Given the description of an element on the screen output the (x, y) to click on. 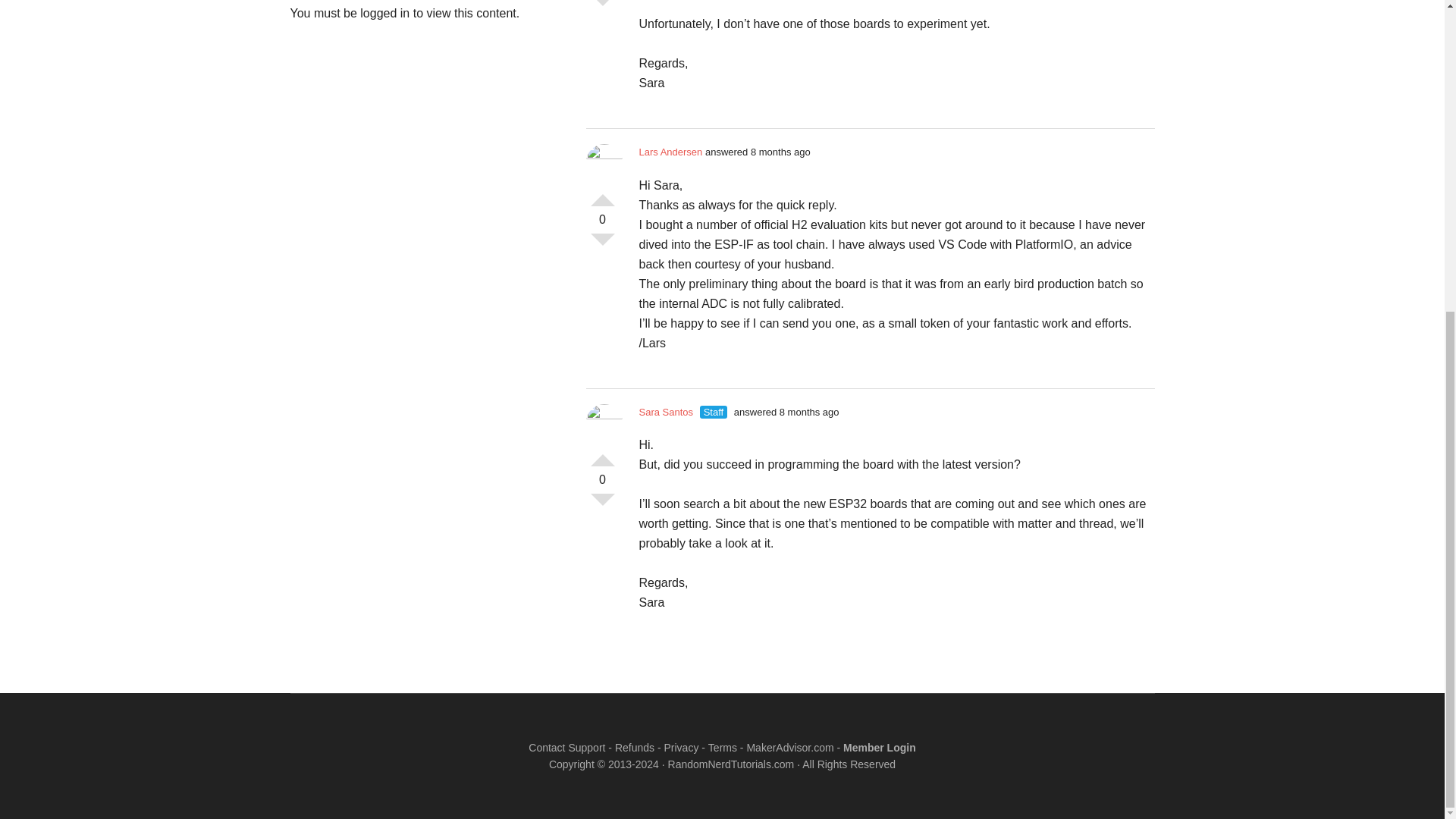
Lars Andersen (670, 152)
MakerAdvisor.com (788, 747)
Member Login (879, 747)
RandomNerdTutorials.com (731, 764)
Sara Santos (666, 410)
Privacy (680, 747)
Vote Down (601, 505)
Terms (721, 747)
Vote Down (601, 9)
Vote Down (601, 245)
Vote Up (601, 193)
Vote Up (601, 454)
Refunds (633, 747)
Contact Support (566, 747)
